Given the description of an element on the screen output the (x, y) to click on. 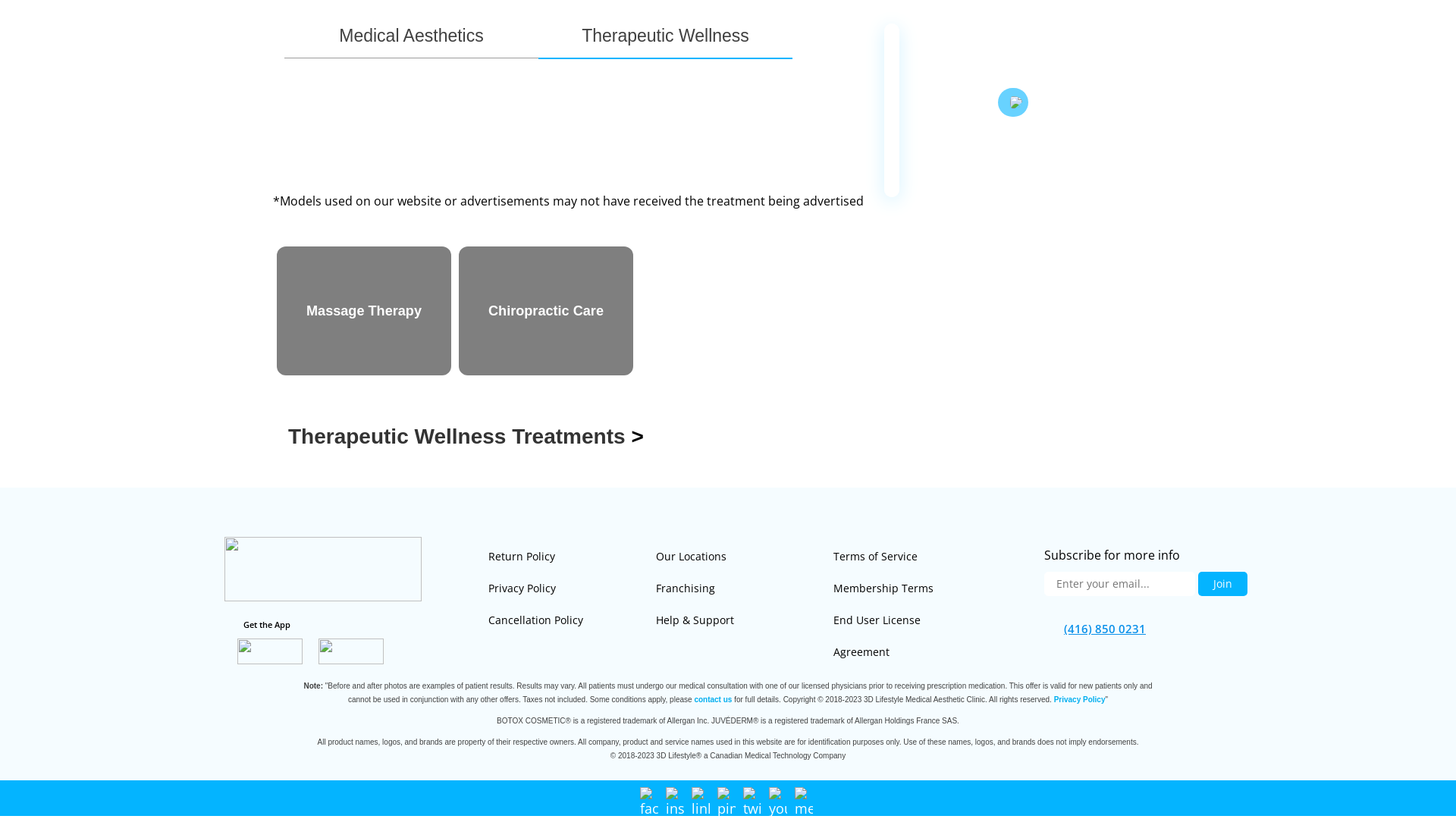
Promotions Element type: text (754, 59)
Membership Element type: text (668, 59)
Franchising Element type: text (685, 741)
Search Element type: text (1077, 61)
Terms of Service Element type: text (875, 709)
(416) 850 0231 Element type: text (555, 17)
Help & Support Element type: text (694, 772)
Membership Terms Element type: text (883, 741)
(416) 850 0231 Element type: text (1104, 781)
Treatments Element type: text (580, 63)
End User License Agreement Element type: text (876, 788)
FREE CONSULTATION Element type: text (684, 17)
Cancellation Policy Element type: text (535, 772)
About Us Element type: text (836, 63)
Therapeutic Wellness Element type: text (665, 188)
3D Lifestyle Oakville
Change Location Element type: text (313, 103)
Privacy Policy Element type: text (521, 741)
Join Element type: text (1222, 736)
Our Locations Element type: text (690, 709)
Sign In Element type: text (1136, 62)
Chiropractic Care Element type: text (545, 463)
Franchising Element type: text (920, 63)
Return Policy Element type: text (521, 709)
Massage Therapy Element type: text (363, 463)
Medical Aesthetics Element type: text (410, 188)
Register Element type: text (1207, 62)
Careers Element type: text (999, 63)
